Given the description of an element on the screen output the (x, y) to click on. 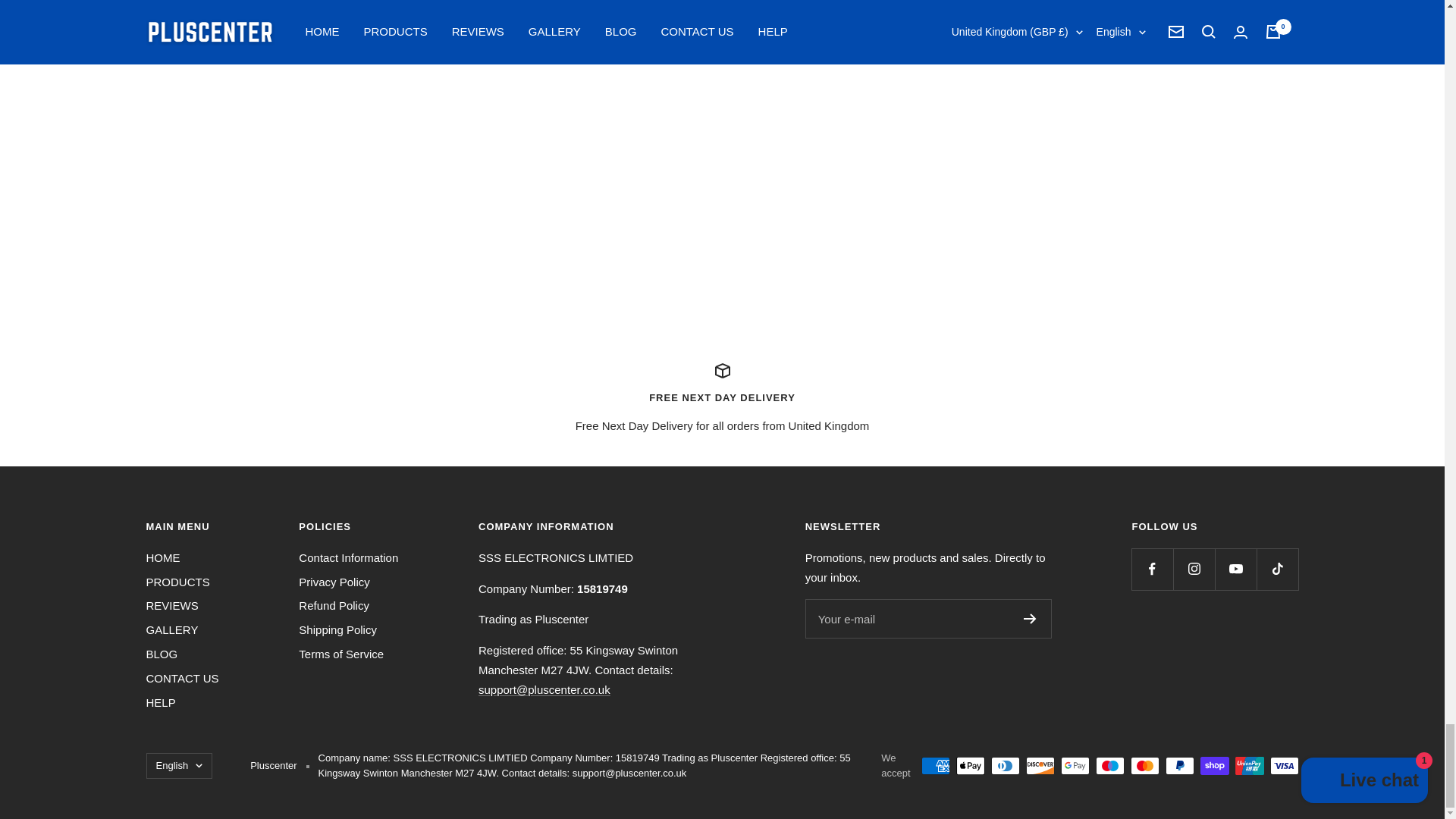
Register (1029, 618)
